Given the description of an element on the screen output the (x, y) to click on. 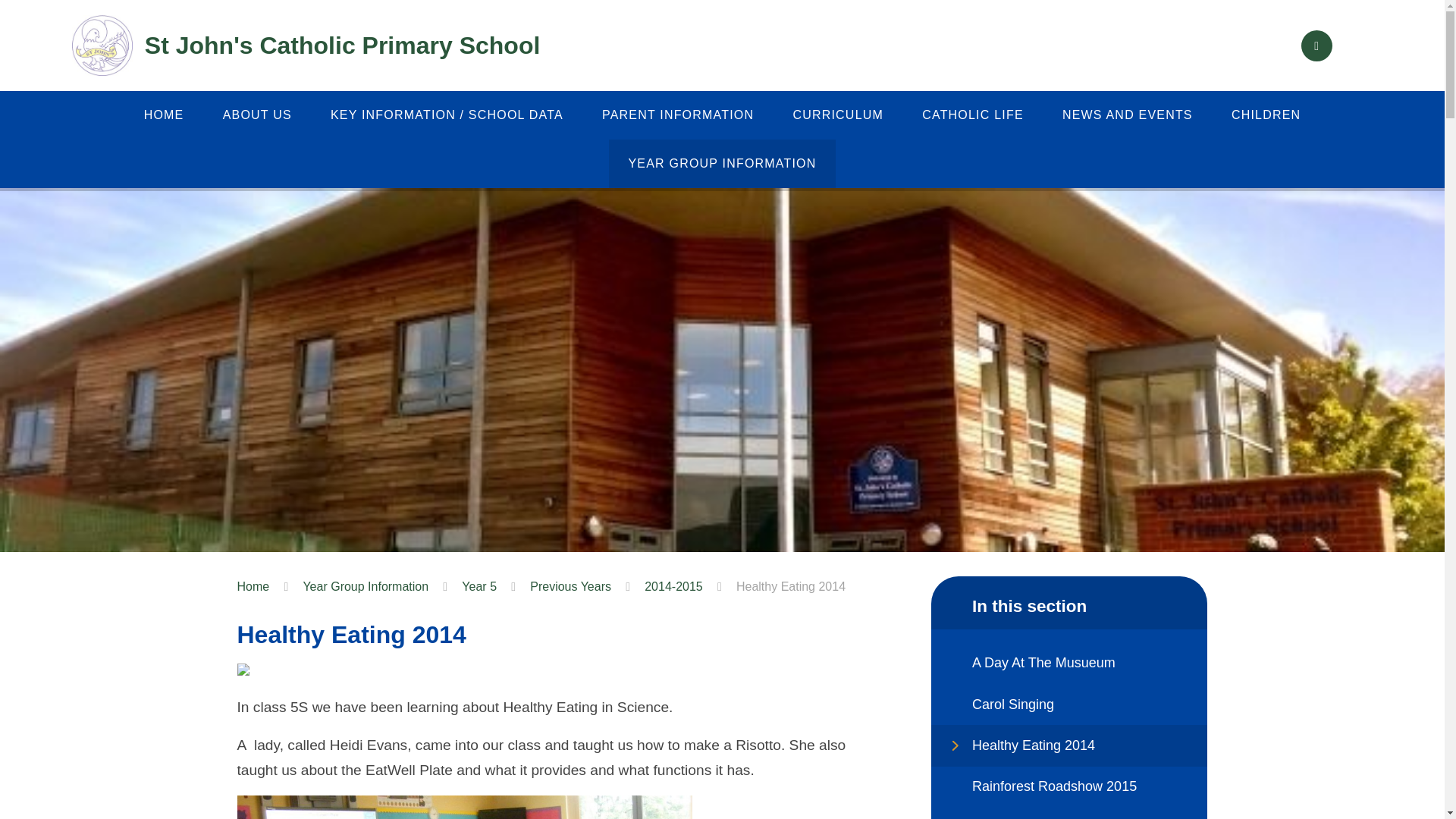
St John's Catholic Primary School (305, 45)
HOME (163, 114)
ABOUT US (257, 114)
